Given the description of an element on the screen output the (x, y) to click on. 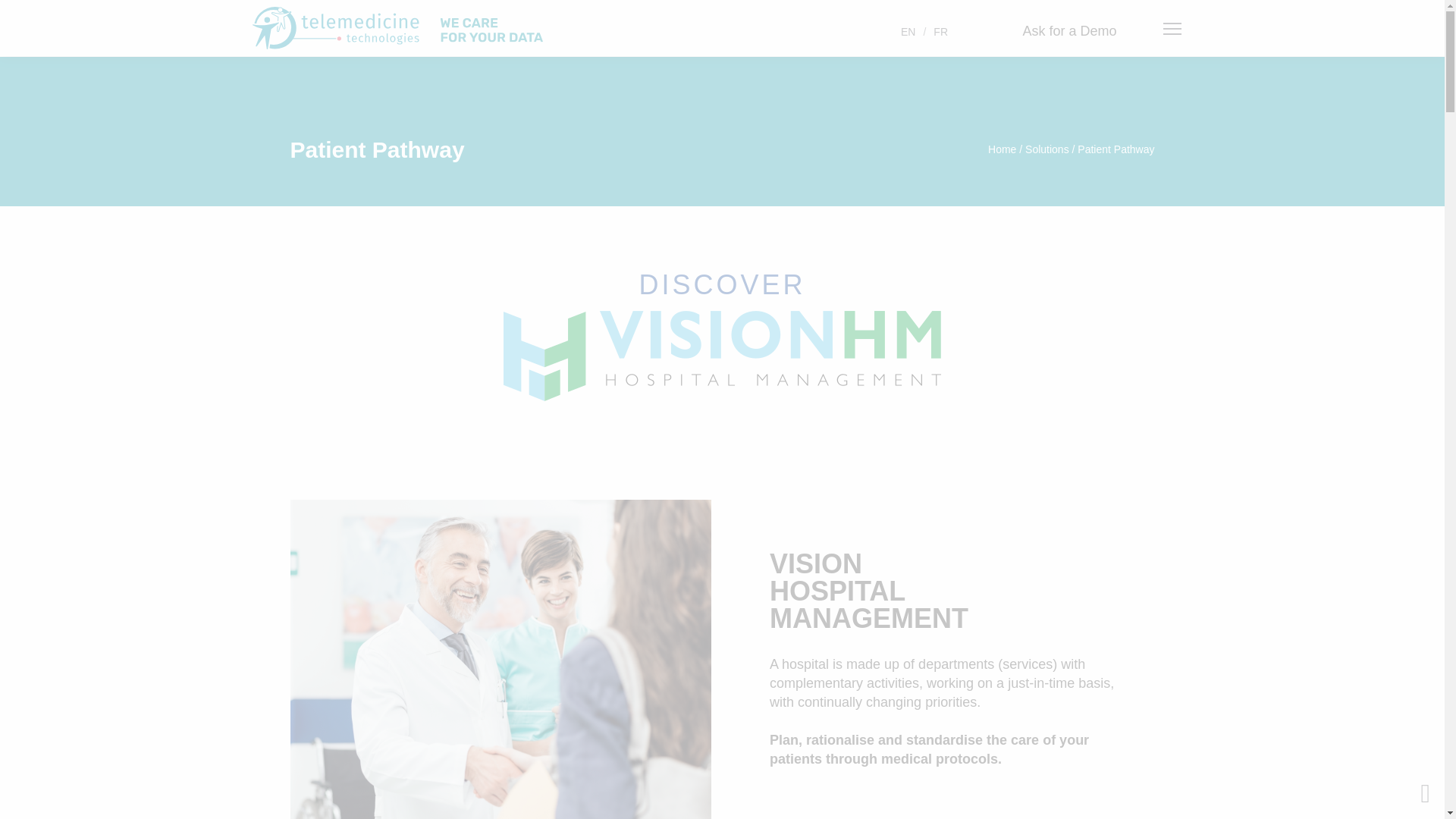
FR (940, 31)
Ask for a Demo (1069, 31)
EN (908, 31)
